Given the description of an element on the screen output the (x, y) to click on. 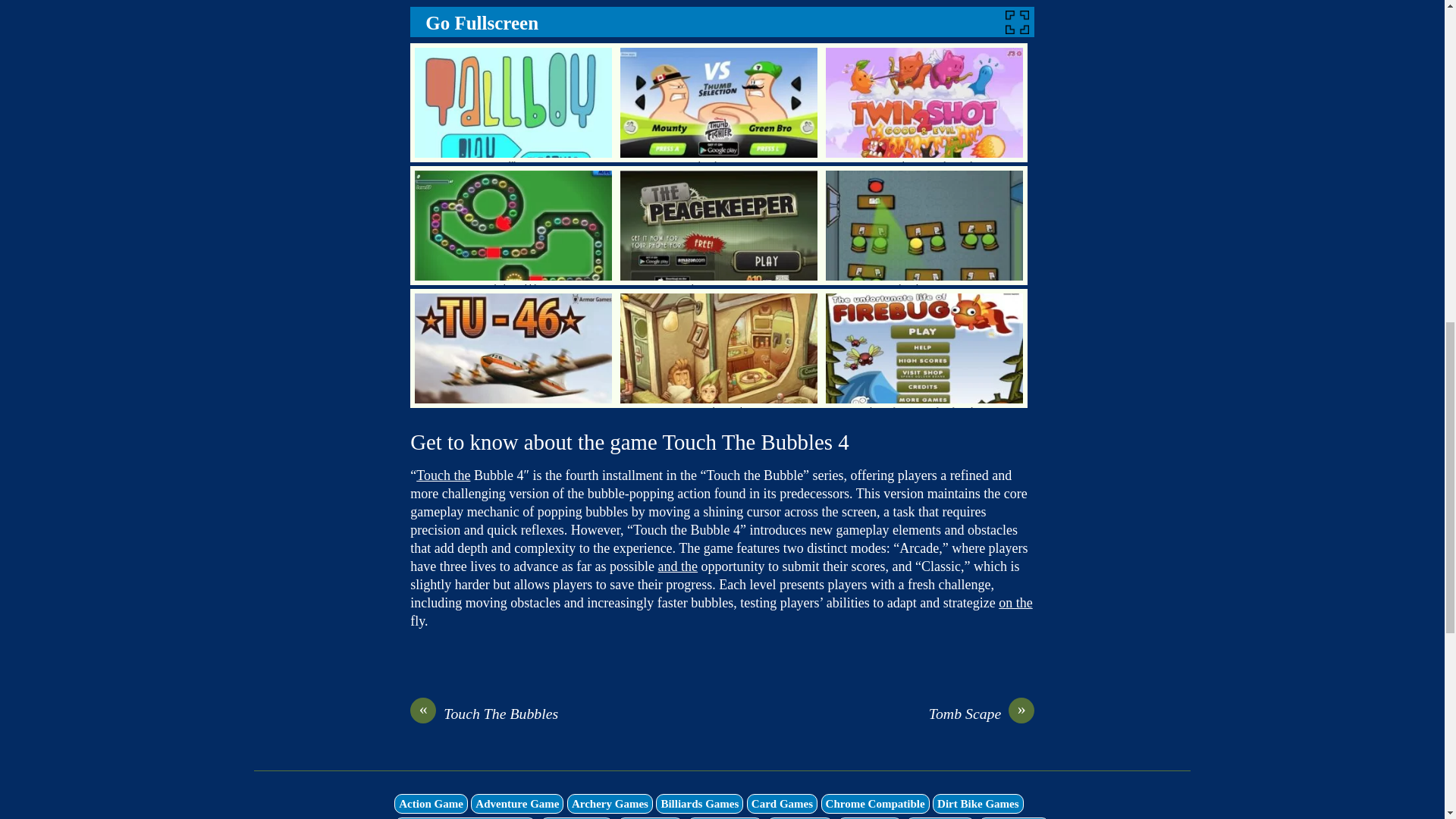
The Peace Keeper (718, 225)
Touch the Bubbles 3 (512, 225)
Thumb Finger (718, 102)
Tallboy (512, 102)
